Given the description of an element on the screen output the (x, y) to click on. 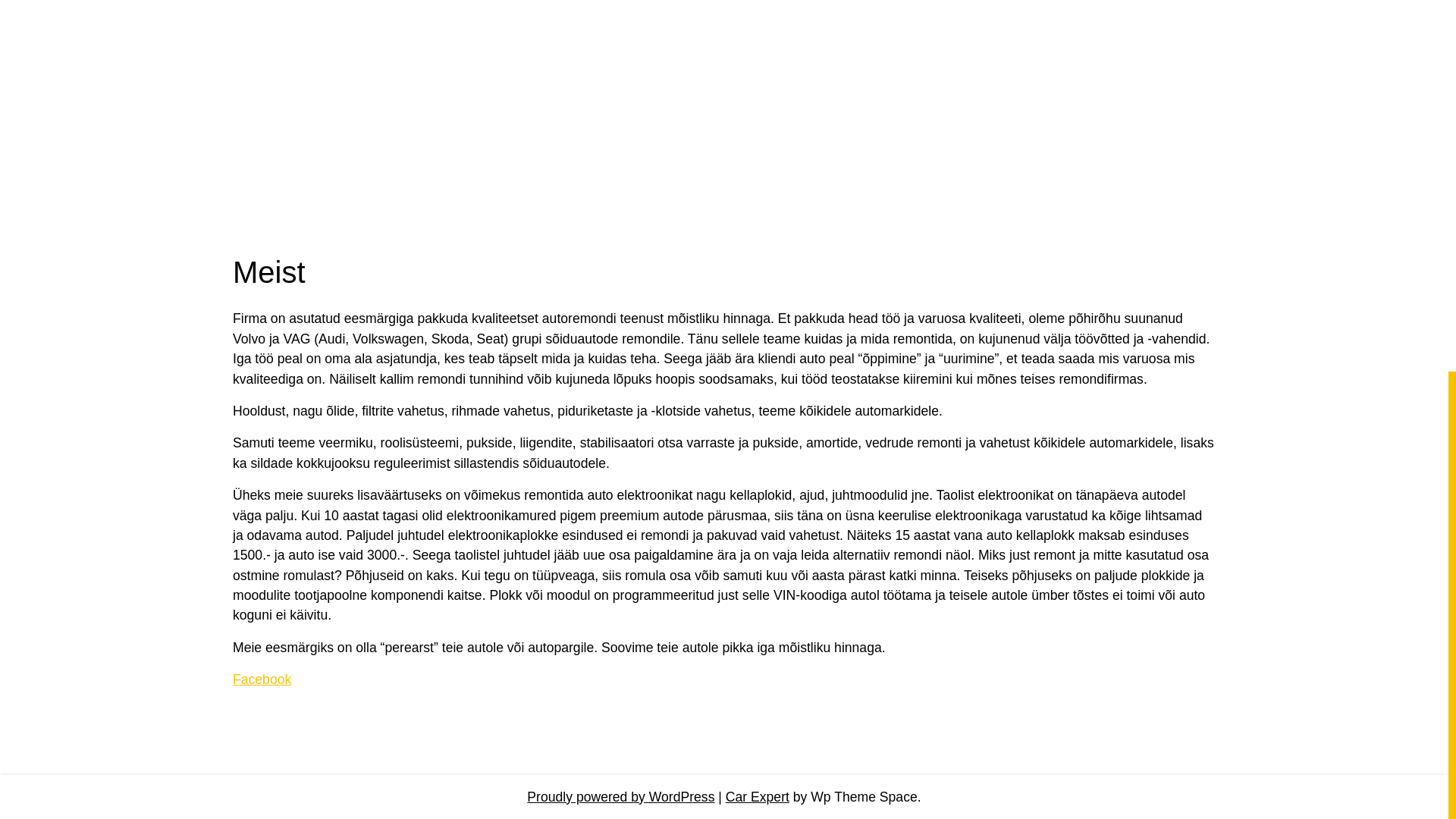
Car Expert (757, 796)
Proudly powered by WordPress (620, 796)
Facebook (261, 679)
